Given the description of an element on the screen output the (x, y) to click on. 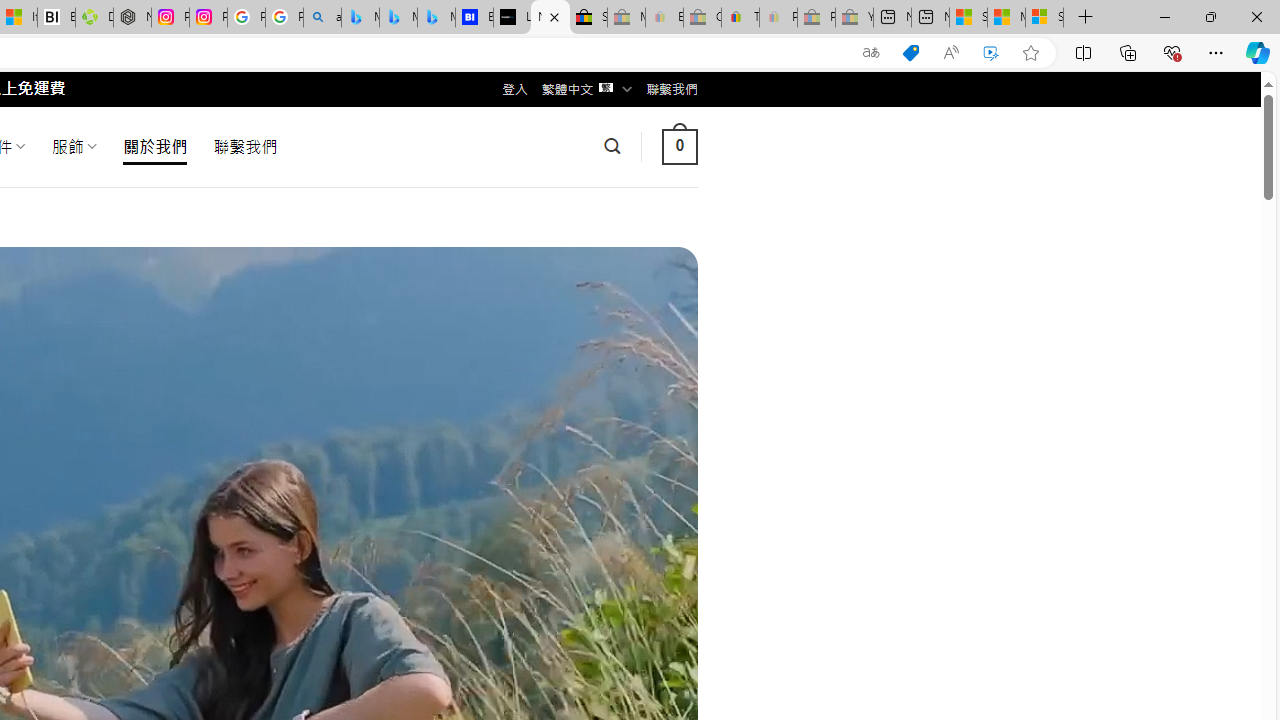
Microsoft Bing Travel - Shangri-La Hotel Bangkok (436, 17)
Press Room - eBay Inc. - Sleeping (815, 17)
